Given the description of an element on the screen output the (x, y) to click on. 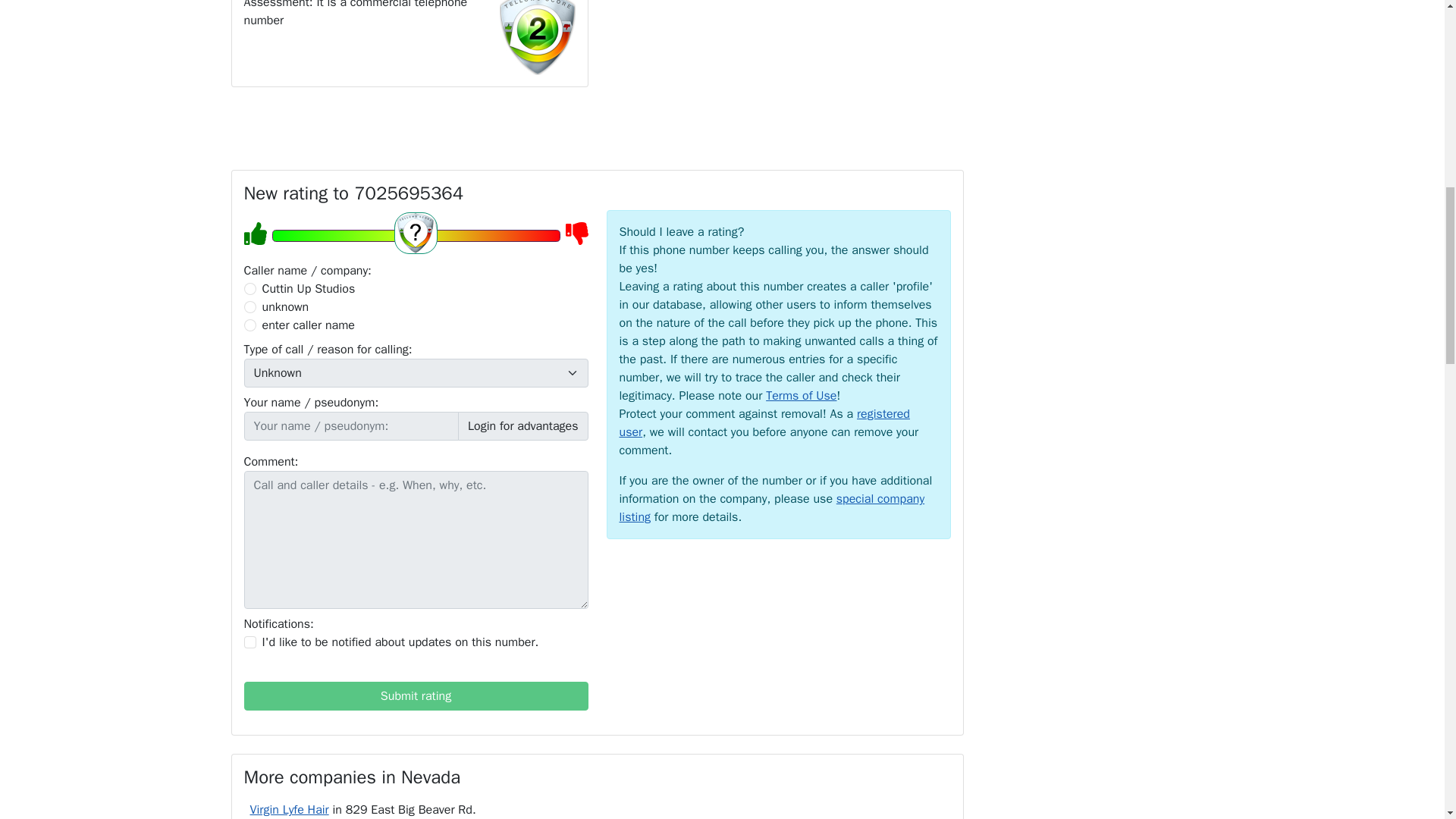
Virgin Lyfe Hair (289, 809)
special company listing (771, 507)
5 (414, 235)
1 (250, 642)
Terms of Use (800, 395)
Submit rating (416, 695)
0 (250, 288)
3 (250, 325)
2 (250, 306)
Login for advantages (523, 425)
registered user (763, 422)
Submit rating (416, 695)
